Given the description of an element on the screen output the (x, y) to click on. 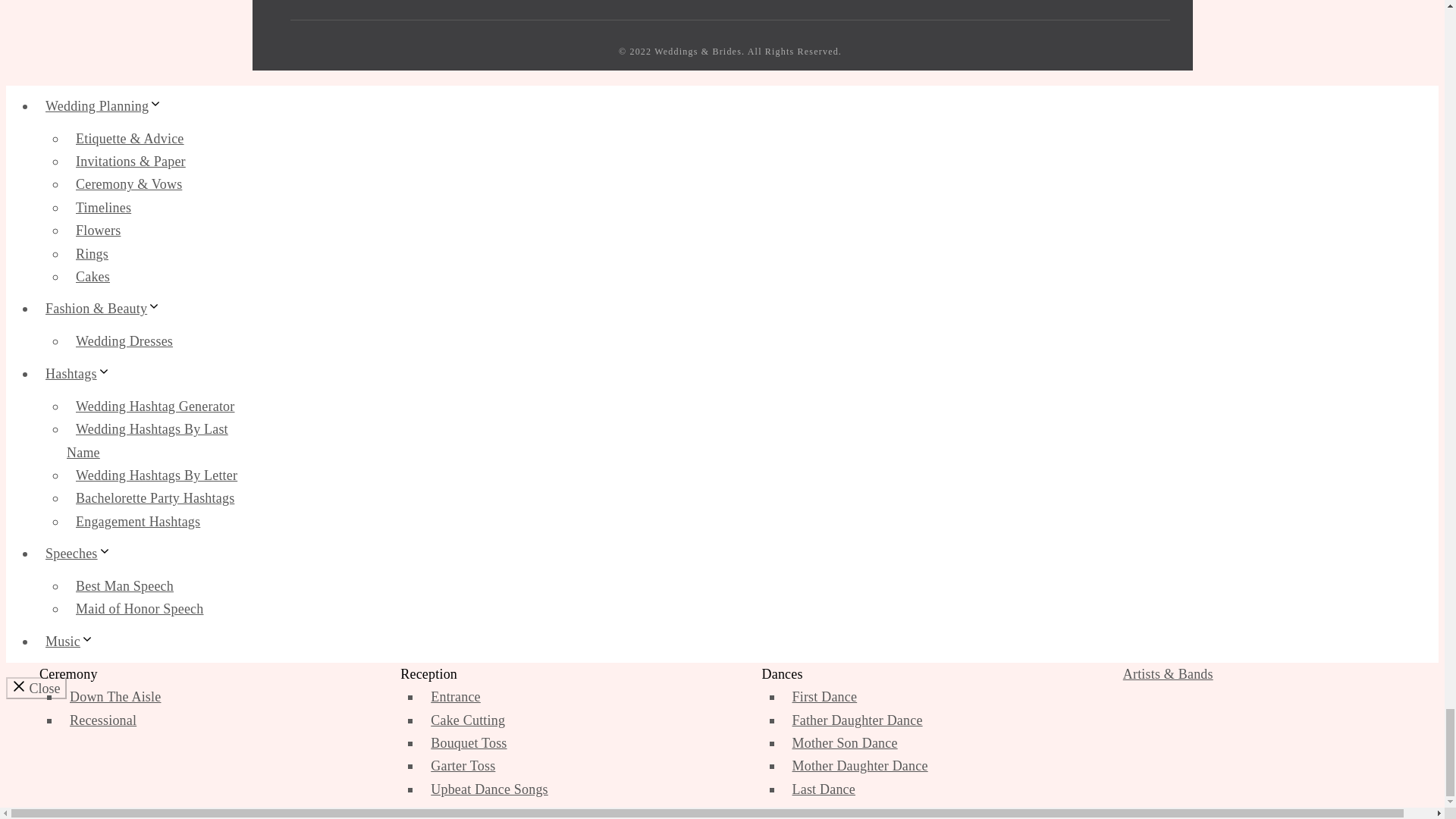
Weddings-and-Brides-Final-Logo-01-1-2 (377, 10)
